Given the description of an element on the screen output the (x, y) to click on. 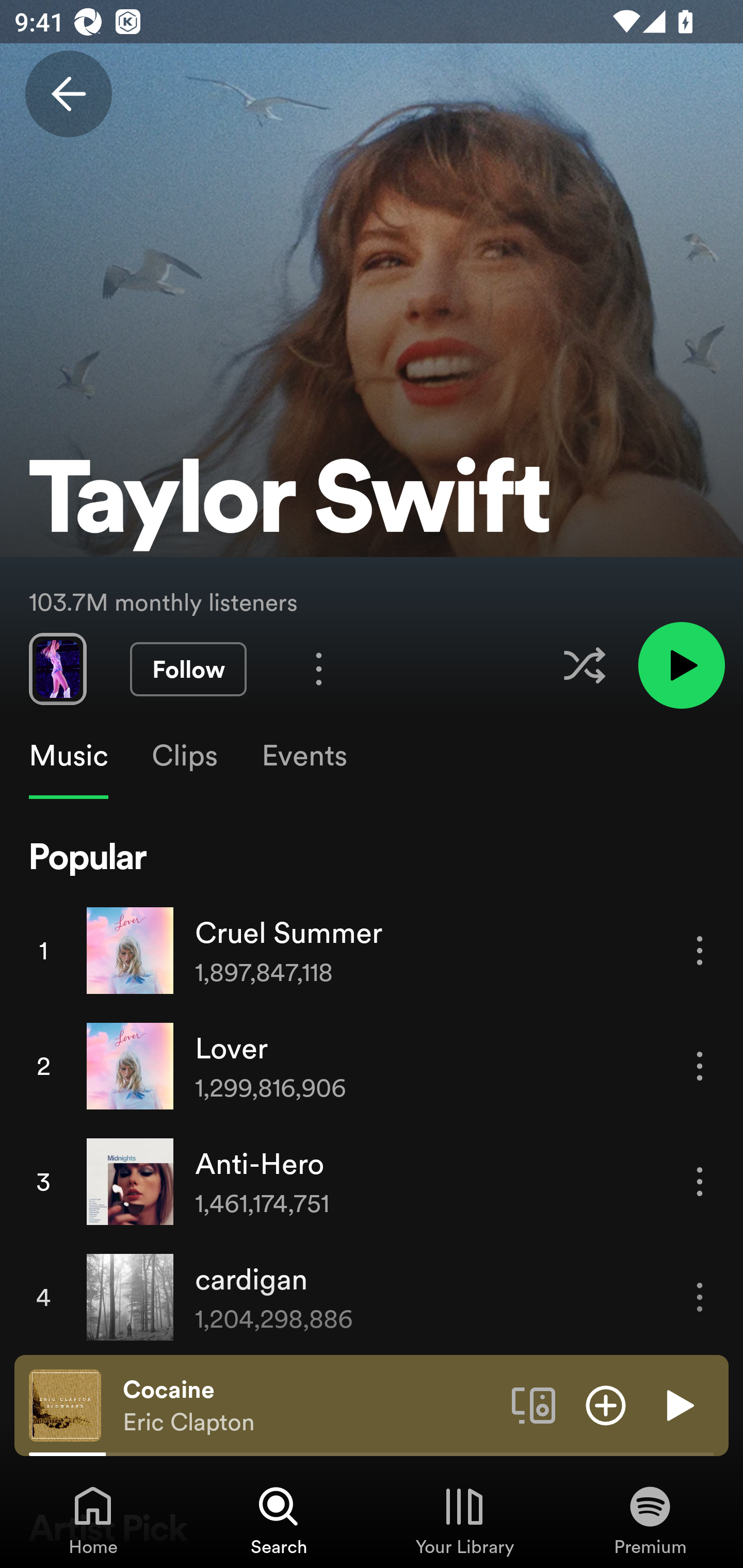
Back (68, 93)
Play artist (681, 664)
Enable shuffle for this artist (583, 665)
Swipe through previews of tracks from this artist. (57, 668)
More options for artist Taylor Swift (318, 668)
Follow (188, 669)
Clips (184, 755)
Events (303, 755)
More options for song Cruel Summer (699, 950)
2 Lover 1,299,816,906 More options for song Lover (371, 1066)
More options for song Lover (699, 1066)
More options for song Anti-Hero (699, 1181)
More options for song cardigan (699, 1297)
Cocaine Eric Clapton (309, 1405)
The cover art of the currently playing track (64, 1404)
Connect to a device. Opens the devices menu (533, 1404)
Add item (605, 1404)
Play (677, 1404)
Home, Tab 1 of 4 Home Home (92, 1519)
Search, Tab 2 of 4 Search Search (278, 1519)
Your Library, Tab 3 of 4 Your Library Your Library (464, 1519)
Premium, Tab 4 of 4 Premium Premium (650, 1519)
